Given the description of an element on the screen output the (x, y) to click on. 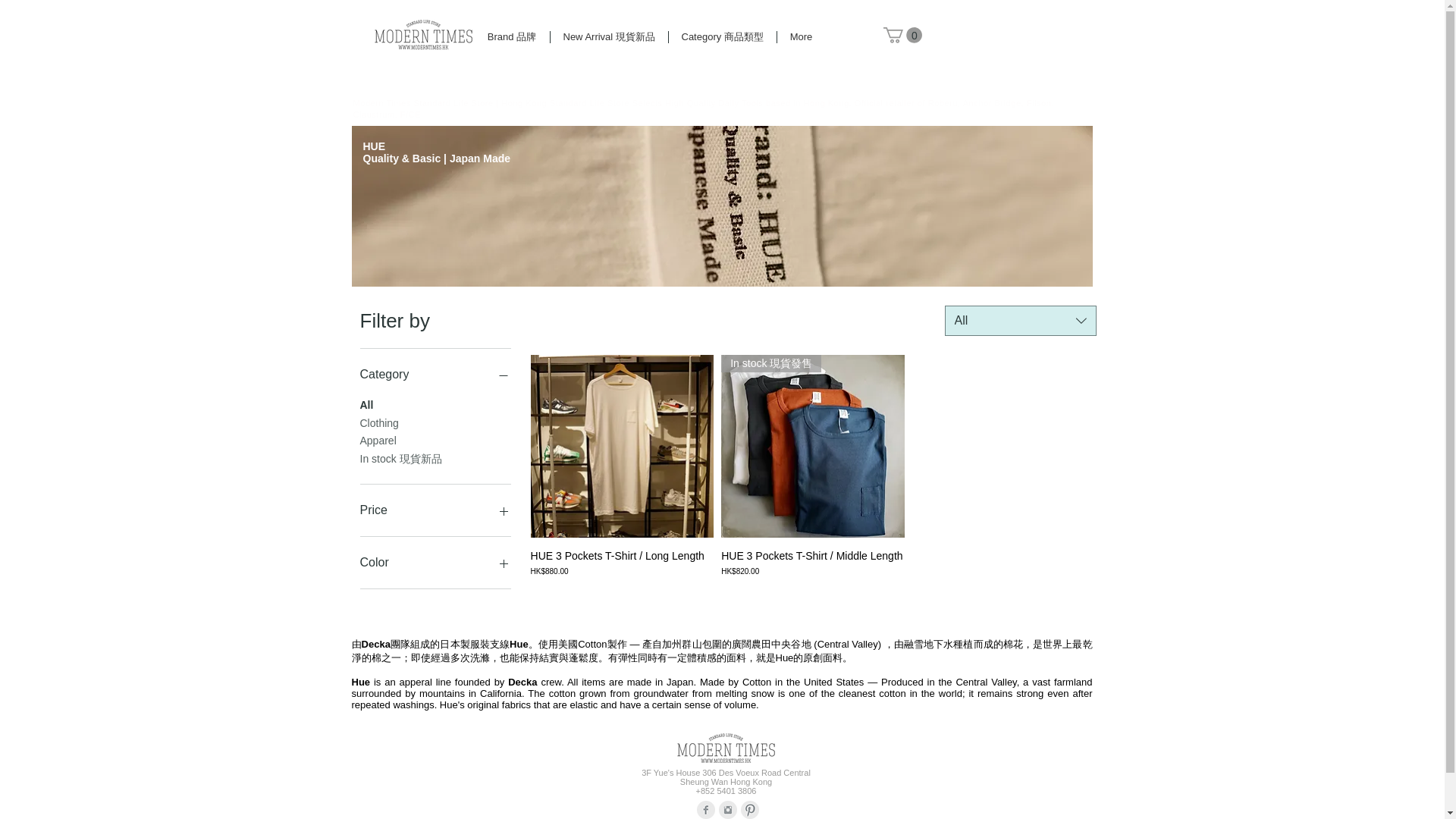
0 (901, 35)
